Given the description of an element on the screen output the (x, y) to click on. 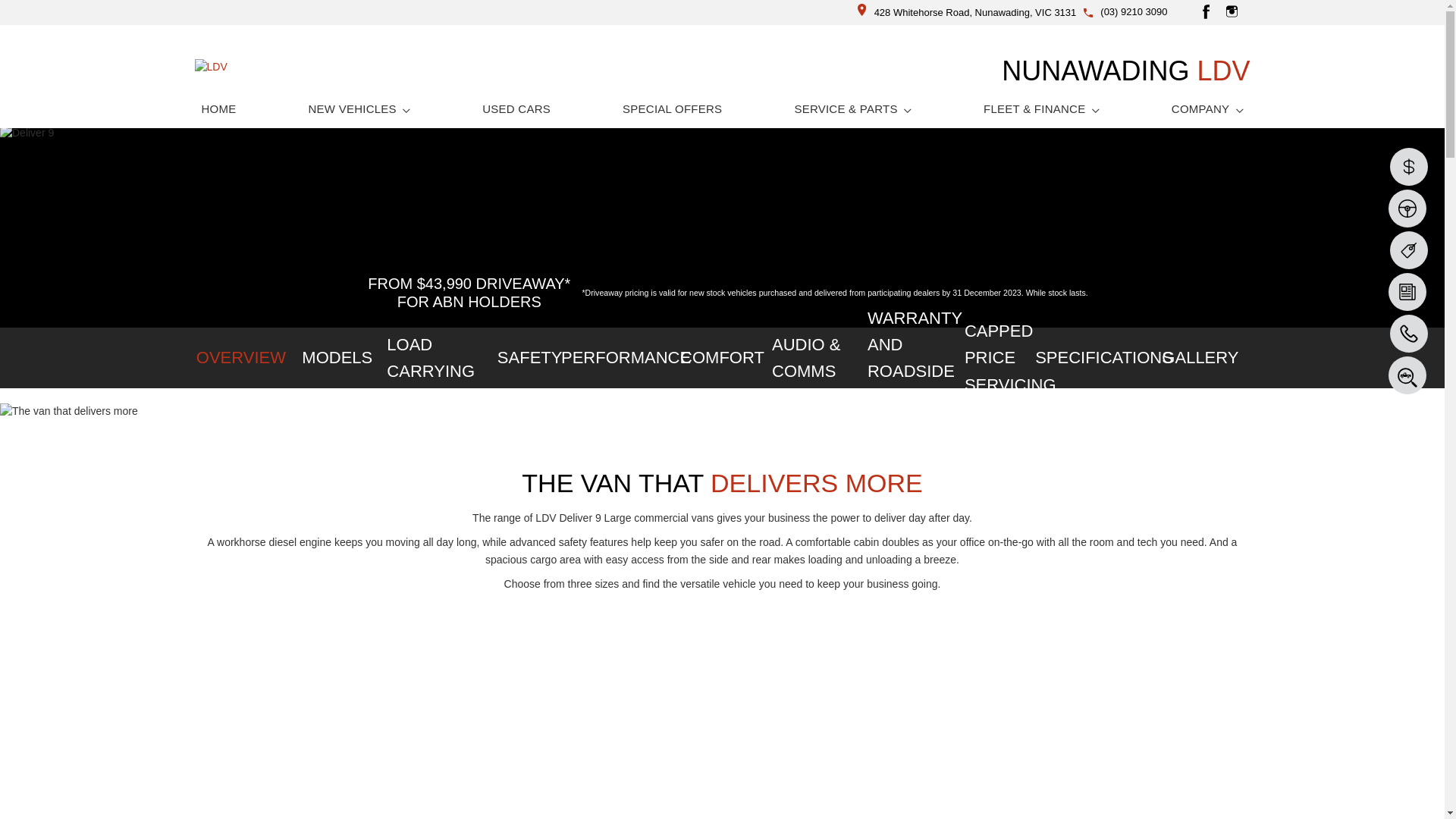
SPECIAL OFFERS Element type: text (671, 108)
SAFETY Element type: text (529, 357)
HOME Element type: text (218, 108)
SERVICE & PARTS Element type: text (852, 108)
CAPPED PRICE SERVICING Element type: text (1010, 357)
NEW VEHICLES Element type: text (359, 108)
WARRANTY AND ROADSIDE ASSIST Element type: text (914, 357)
COMFORT Element type: text (721, 357)
MODELS Element type: text (336, 357)
428 Whitehorse Road, Nunawading, VIC 3131 Element type: text (966, 12)
SPECIFICATIONS Element type: text (1104, 357)
GALLERY Element type: text (1200, 357)
COMPANY Element type: text (1207, 108)
LOAD CARRYING Element type: text (433, 357)
AUDIO & COMMS Element type: text (818, 357)
OVERVIEW Element type: text (240, 357)
FLEET & FINANCE Element type: text (1041, 108)
(03) 9210 3090 Element type: text (1133, 11)
USED CARS Element type: text (516, 108)
PERFORMANCE Element type: text (625, 357)
